Given the description of an element on the screen output the (x, y) to click on. 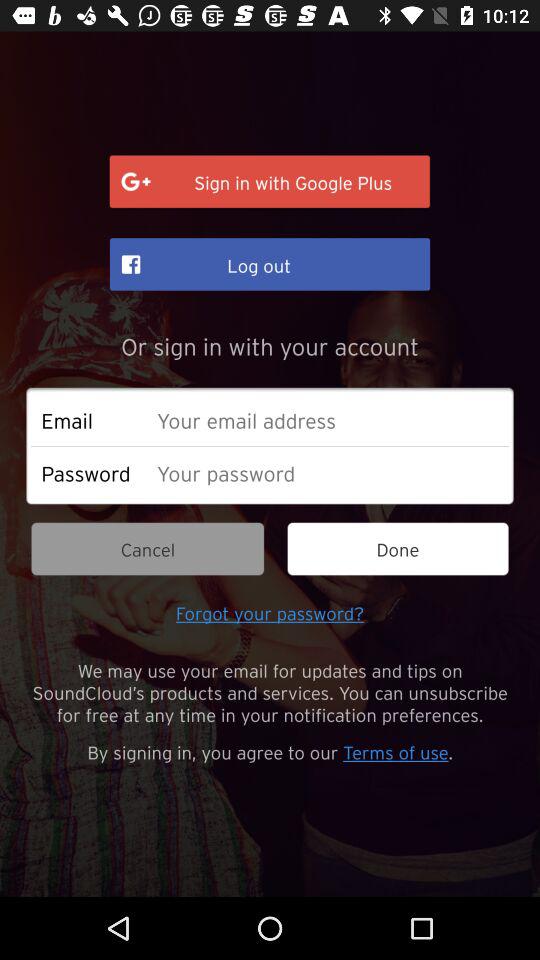
turn off done icon (397, 548)
